Given the description of an element on the screen output the (x, y) to click on. 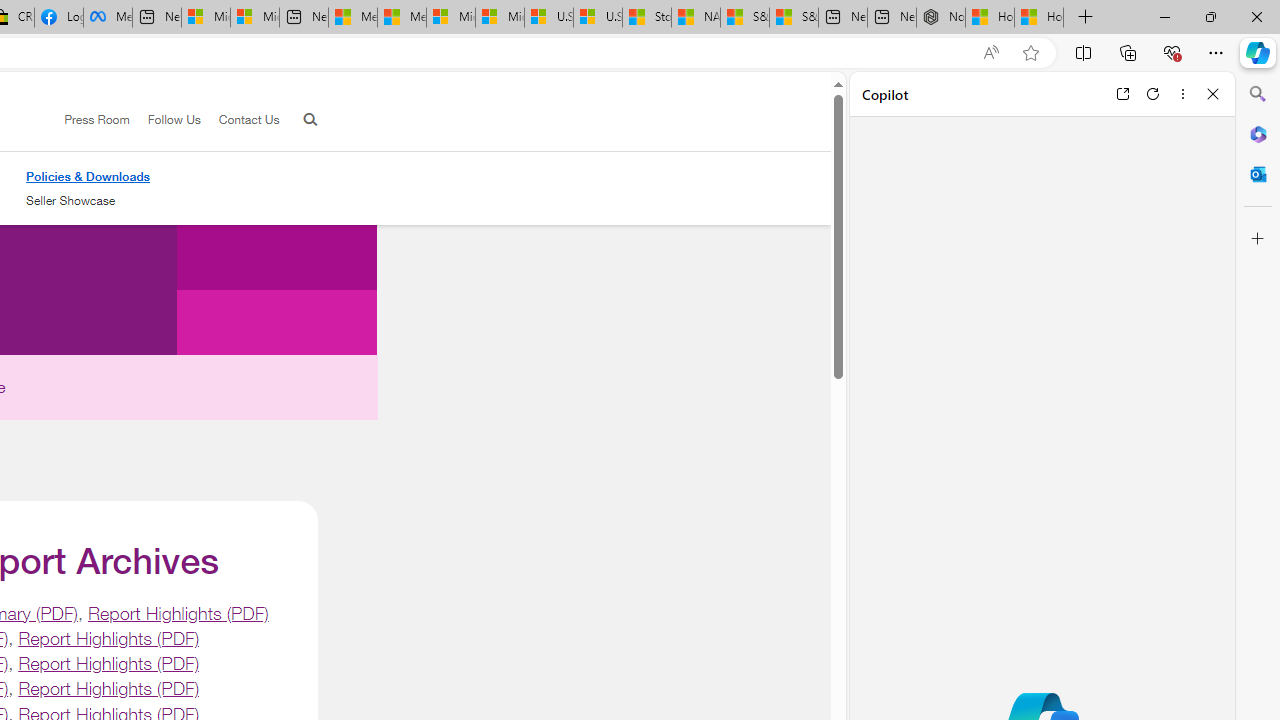
Meta Store (107, 17)
Press Room (97, 119)
Log into Facebook (58, 17)
Press Room (88, 120)
